Given the description of an element on the screen output the (x, y) to click on. 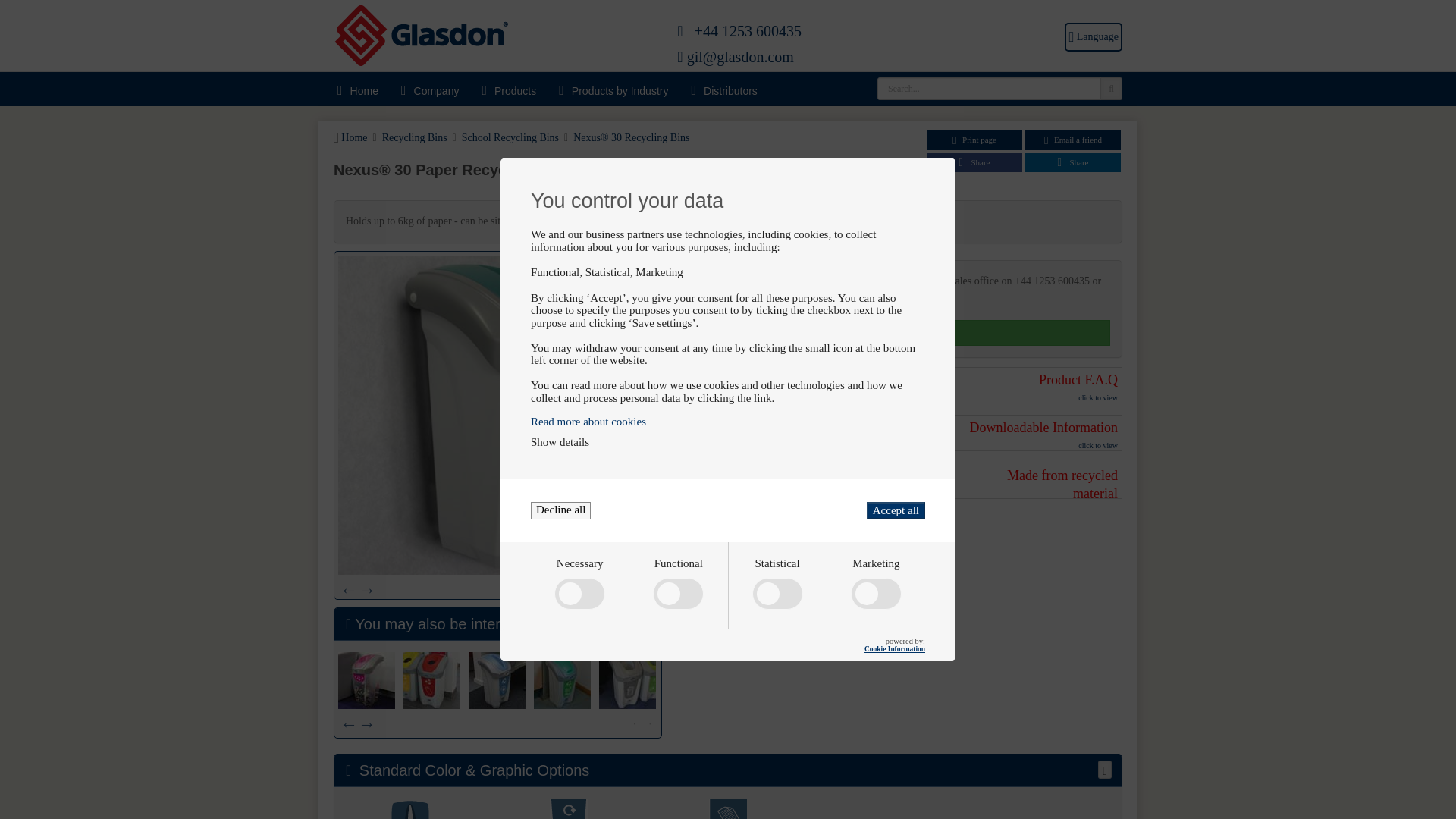
Indoor and Outdoor Litter Bins from Glasdon (420, 37)
Read more about cookies (727, 421)
Cookie Information (894, 648)
Decline all (561, 510)
Show details (560, 441)
Accept all (895, 510)
